Given the description of an element on the screen output the (x, y) to click on. 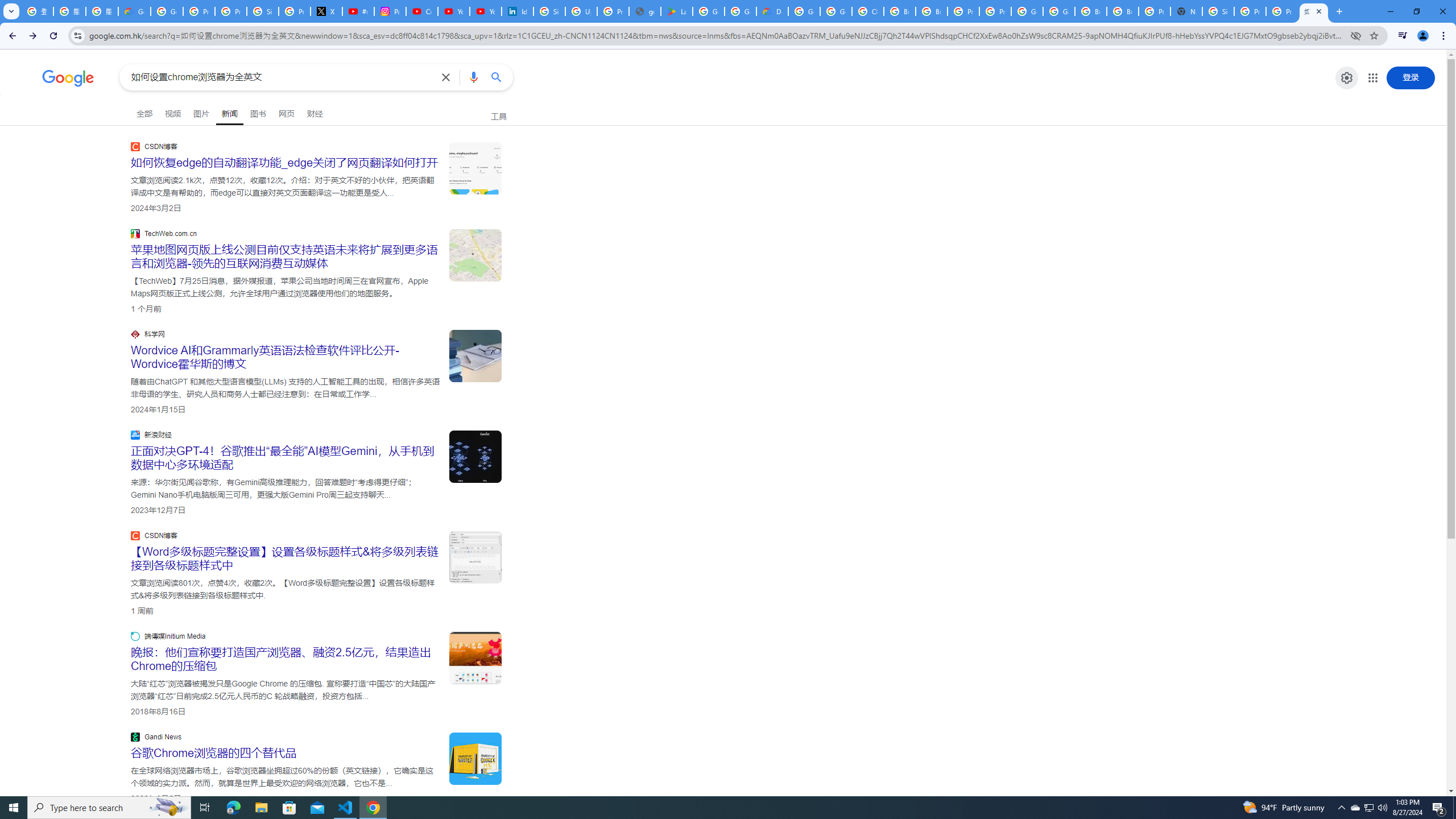
Google Cloud Platform (1059, 11)
YouTube Culture & Trends - YouTube Top 10, 2021 (485, 11)
